Given the description of an element on the screen output the (x, y) to click on. 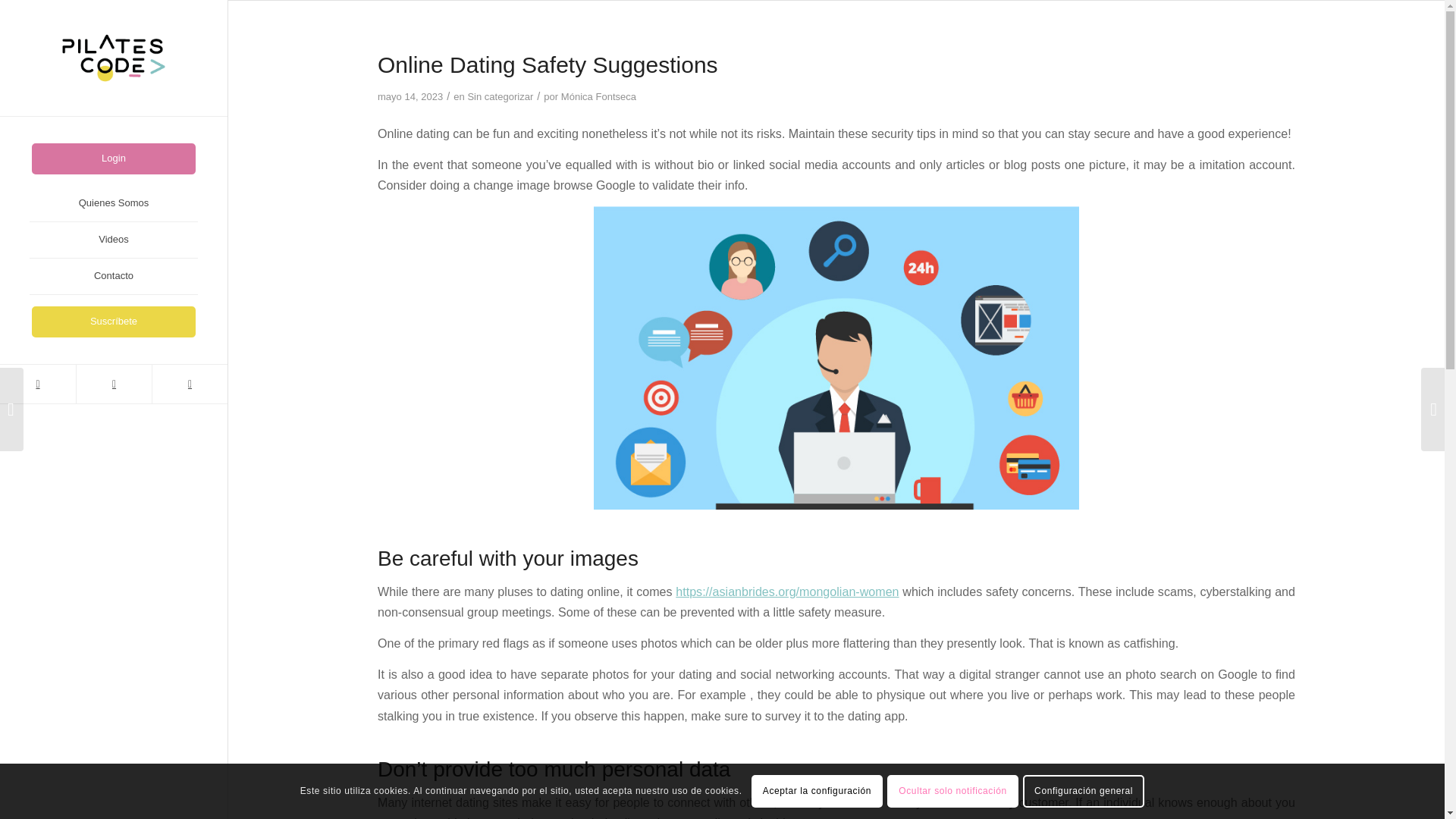
Instagram (113, 383)
Youtube (189, 383)
Videos (113, 239)
LogoWeb-PilatesCode (113, 57)
Quienes Somos (113, 203)
Sin categorizar (499, 96)
Facebook (37, 383)
Login (113, 158)
Contacto (113, 276)
